Given the description of an element on the screen output the (x, y) to click on. 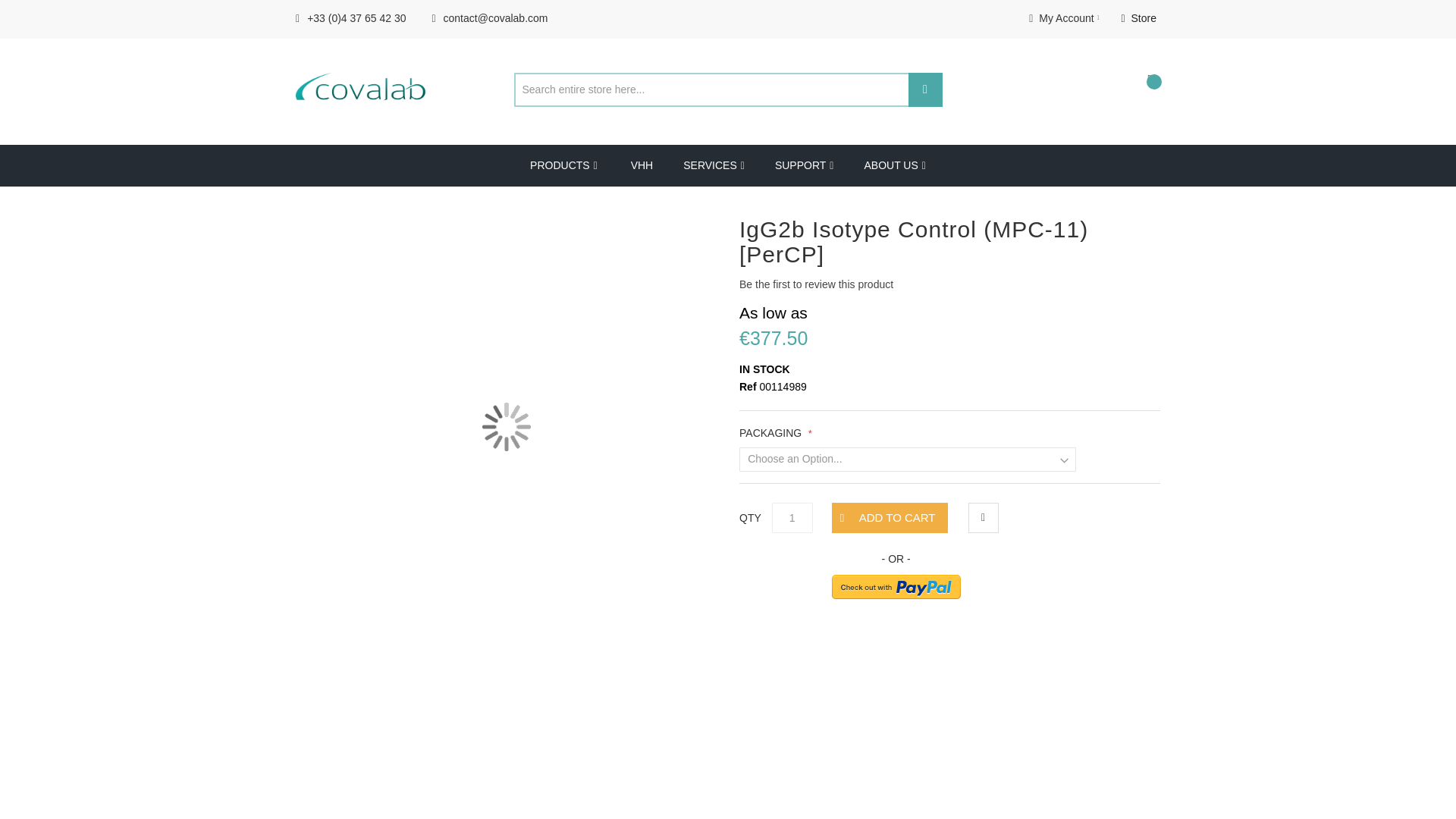
Search (925, 89)
Availability (949, 369)
SEARCH (925, 89)
Add to Cart (889, 517)
PRODUCTS (563, 165)
1 (791, 517)
Store (1138, 18)
Checkout with PayPal (895, 586)
Qty (791, 517)
